Given the description of an element on the screen output the (x, y) to click on. 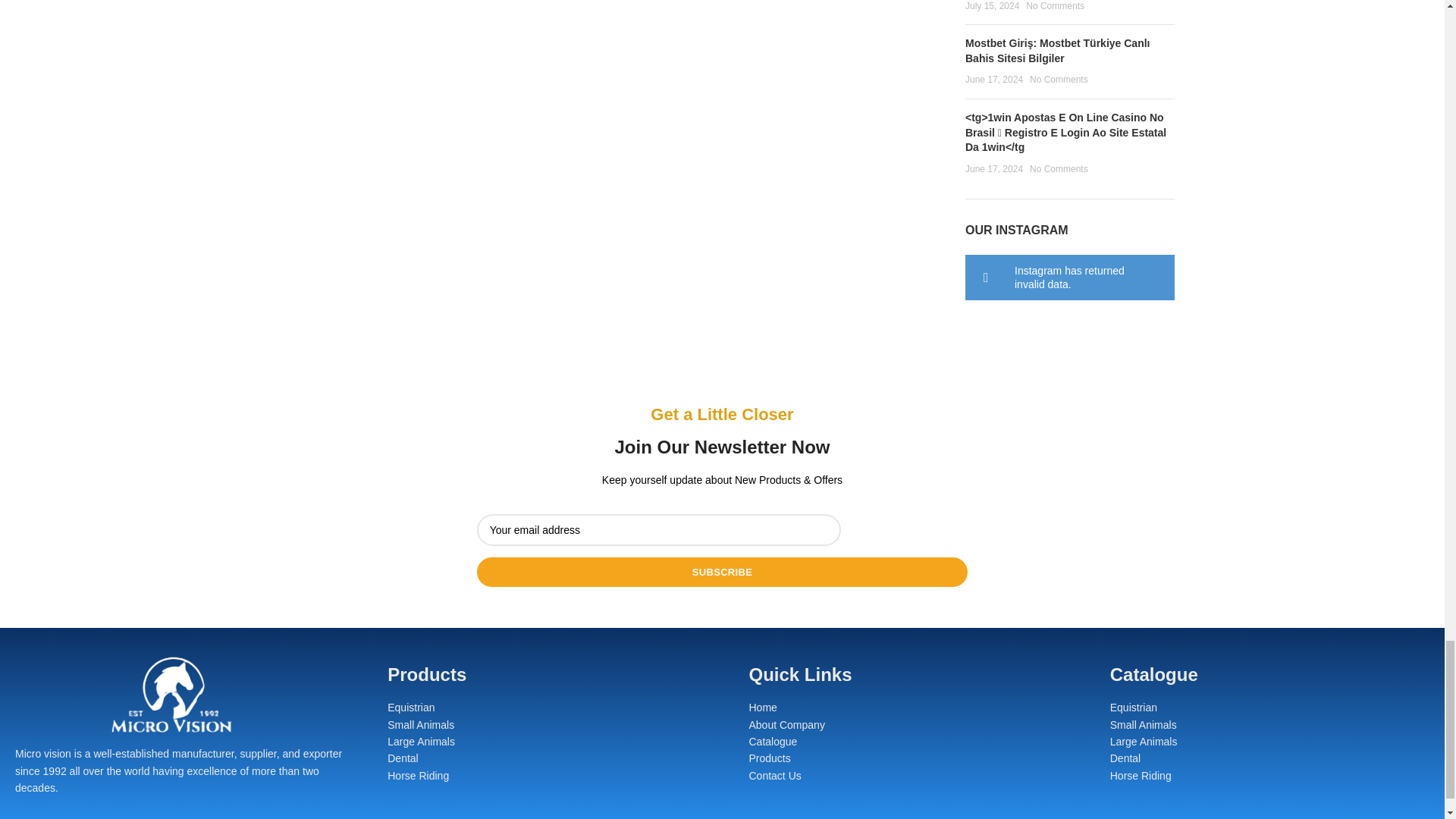
Subscribe (722, 572)
